Given the description of an element on the screen output the (x, y) to click on. 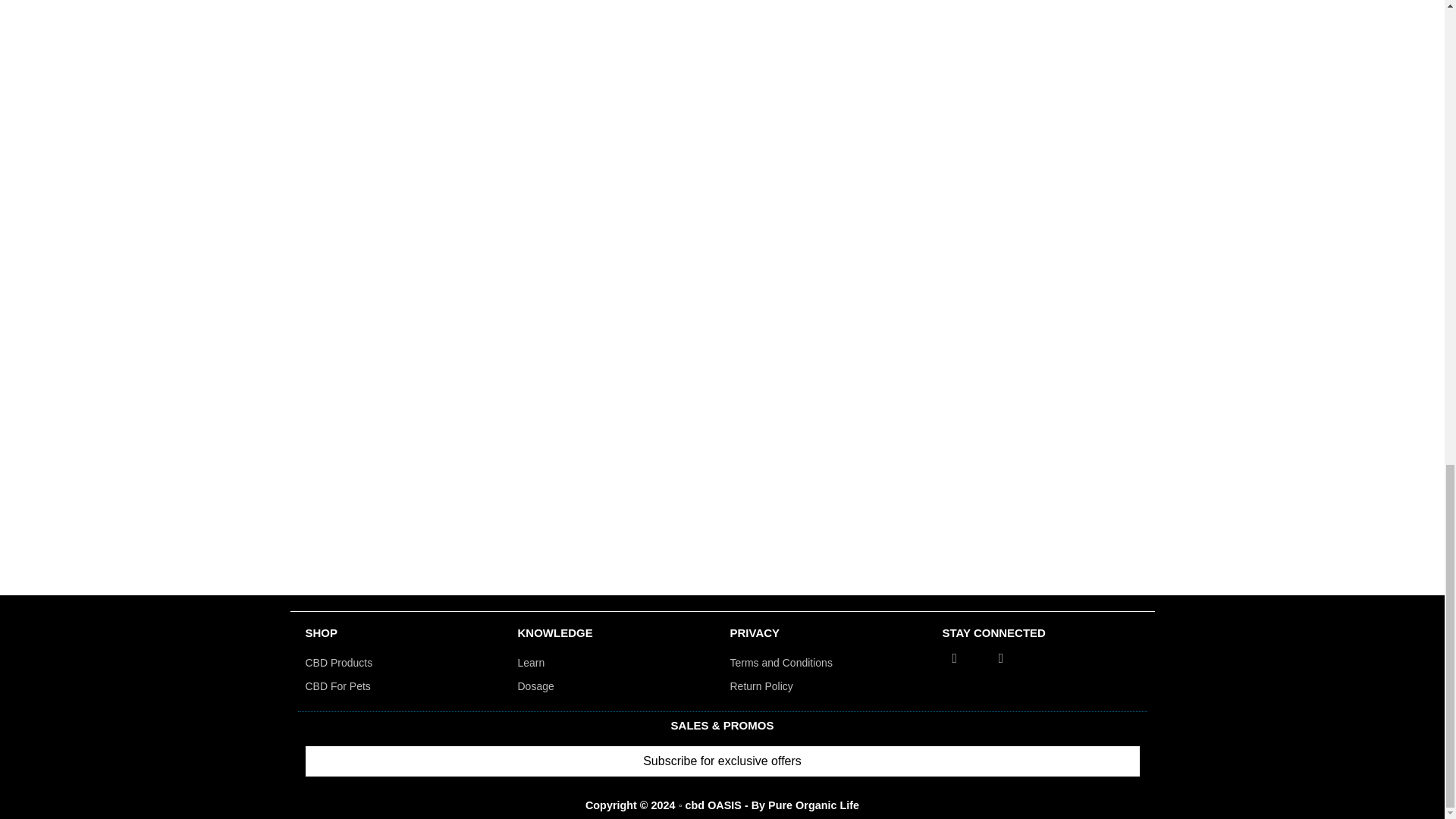
Subscribe for exclusive offers (721, 761)
Dosage (615, 686)
Return Policy (827, 686)
CBD Products (403, 663)
Terms and Conditions (827, 663)
Learn (615, 663)
CBD For Pets (403, 686)
